Given the description of an element on the screen output the (x, y) to click on. 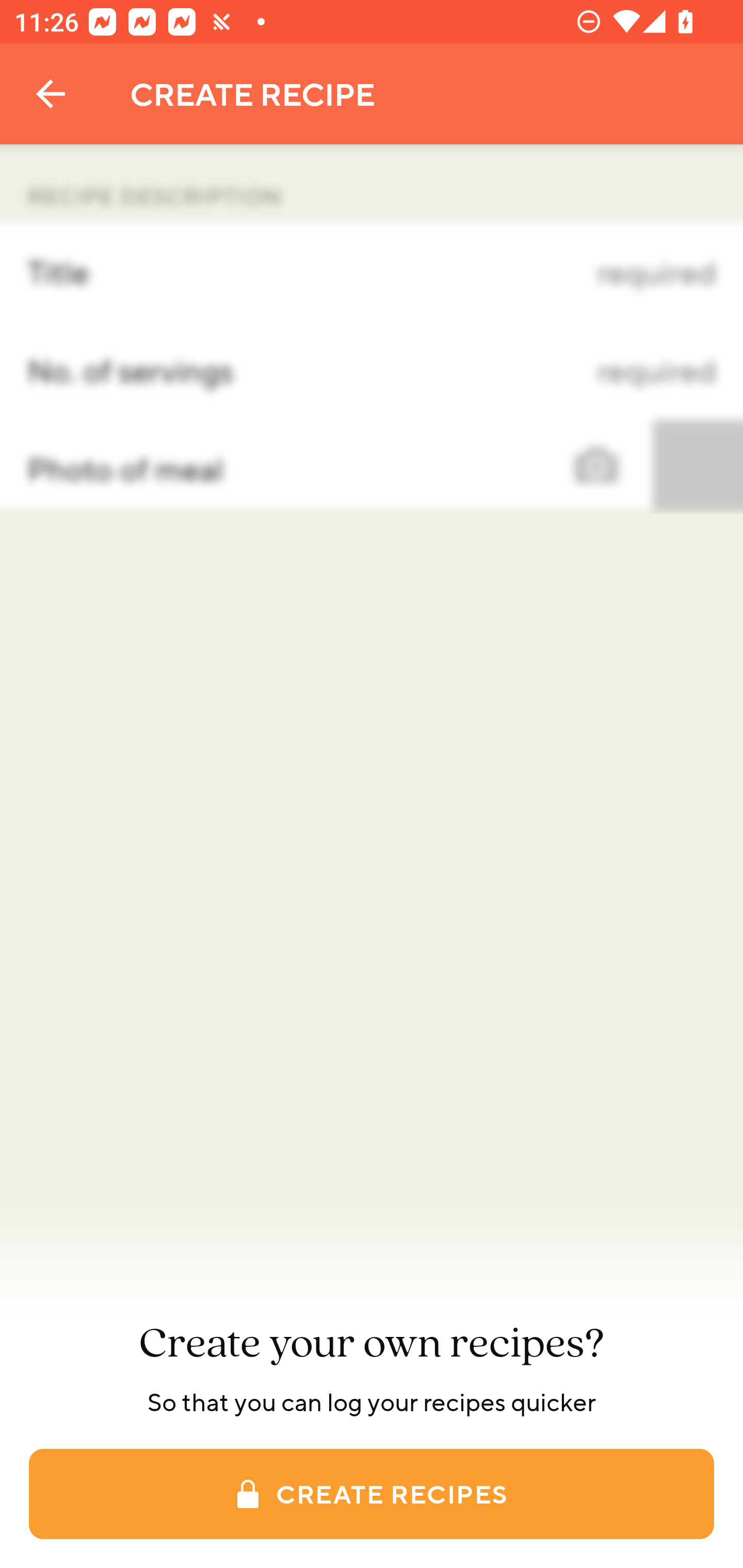
Navigate up (50, 93)
CREATE RECIPES (371, 1493)
